Given the description of an element on the screen output the (x, y) to click on. 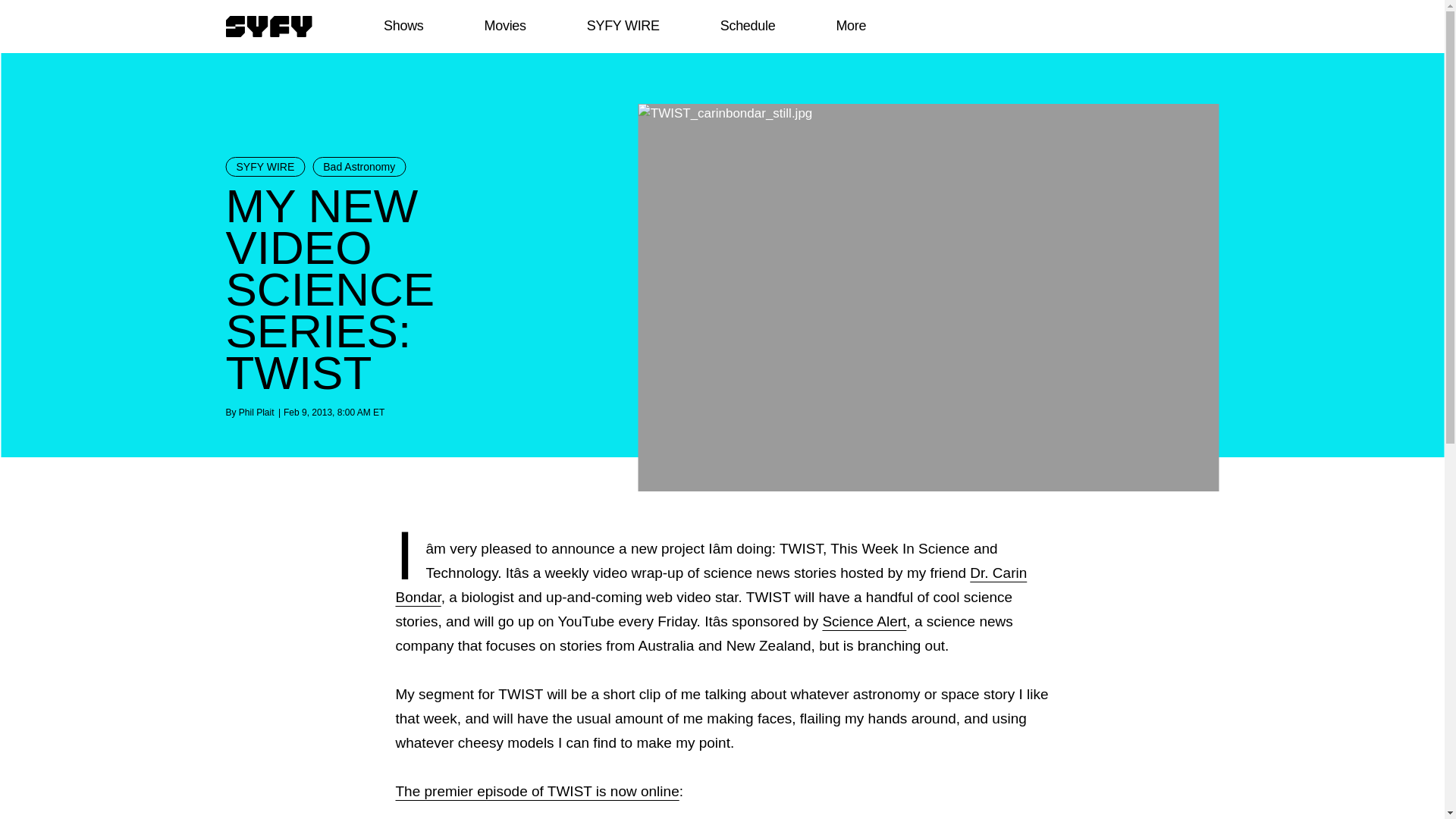
The premier episode of TWIST is now online (537, 790)
More (850, 26)
Movies (504, 26)
Bad Astronomy (359, 166)
Shows (403, 26)
Phil Plait (256, 412)
Dr. Carin Bondar (711, 585)
SYFY WIRE (622, 26)
SYFY WIRE (265, 166)
